Given the description of an element on the screen output the (x, y) to click on. 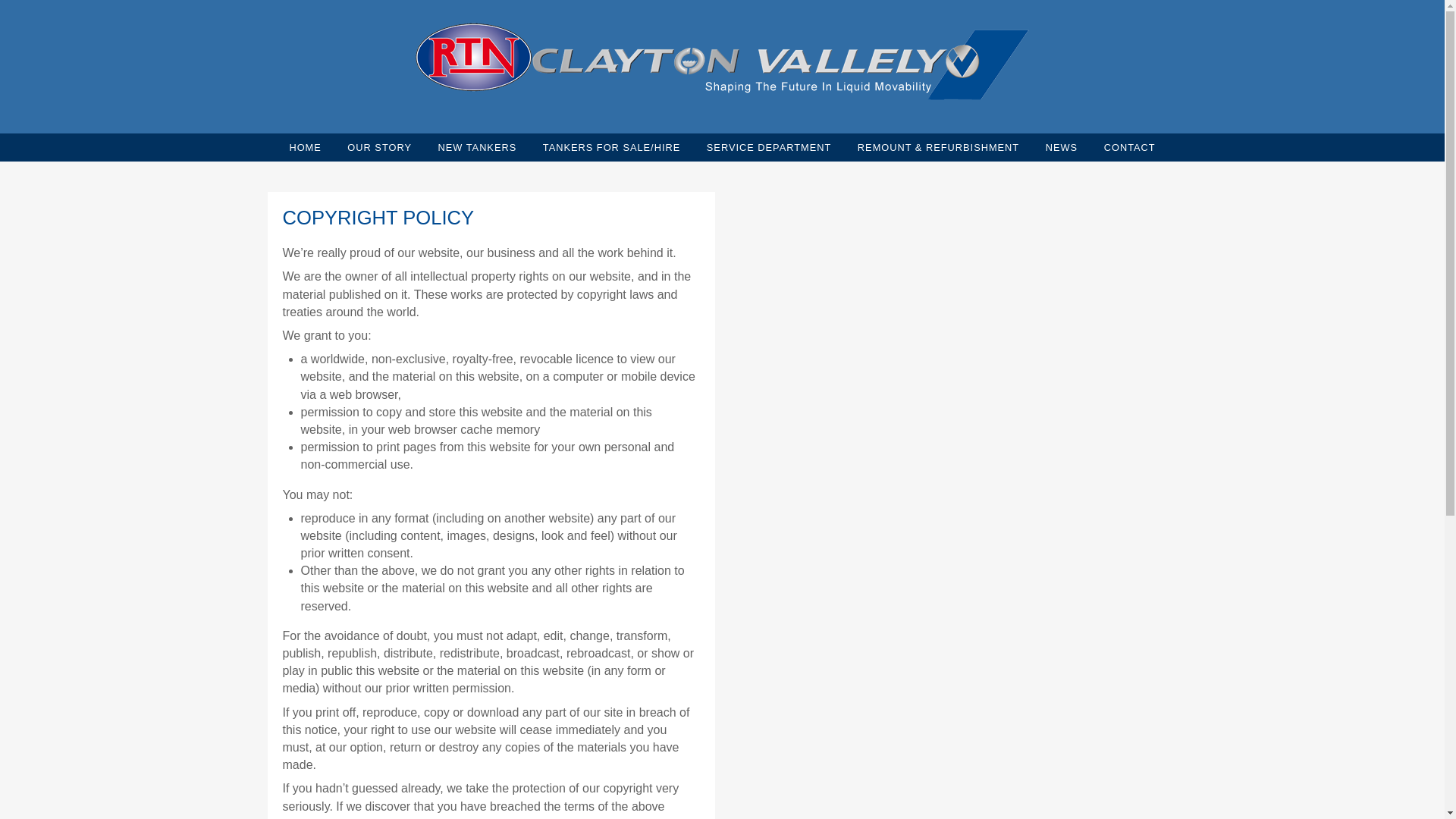
NEWS (1061, 147)
CONTACT (1129, 147)
OUR STORY (379, 147)
SERVICE DEPARTMENT (768, 147)
HOME (305, 147)
NEW TANKERS (477, 147)
